Given the description of an element on the screen output the (x, y) to click on. 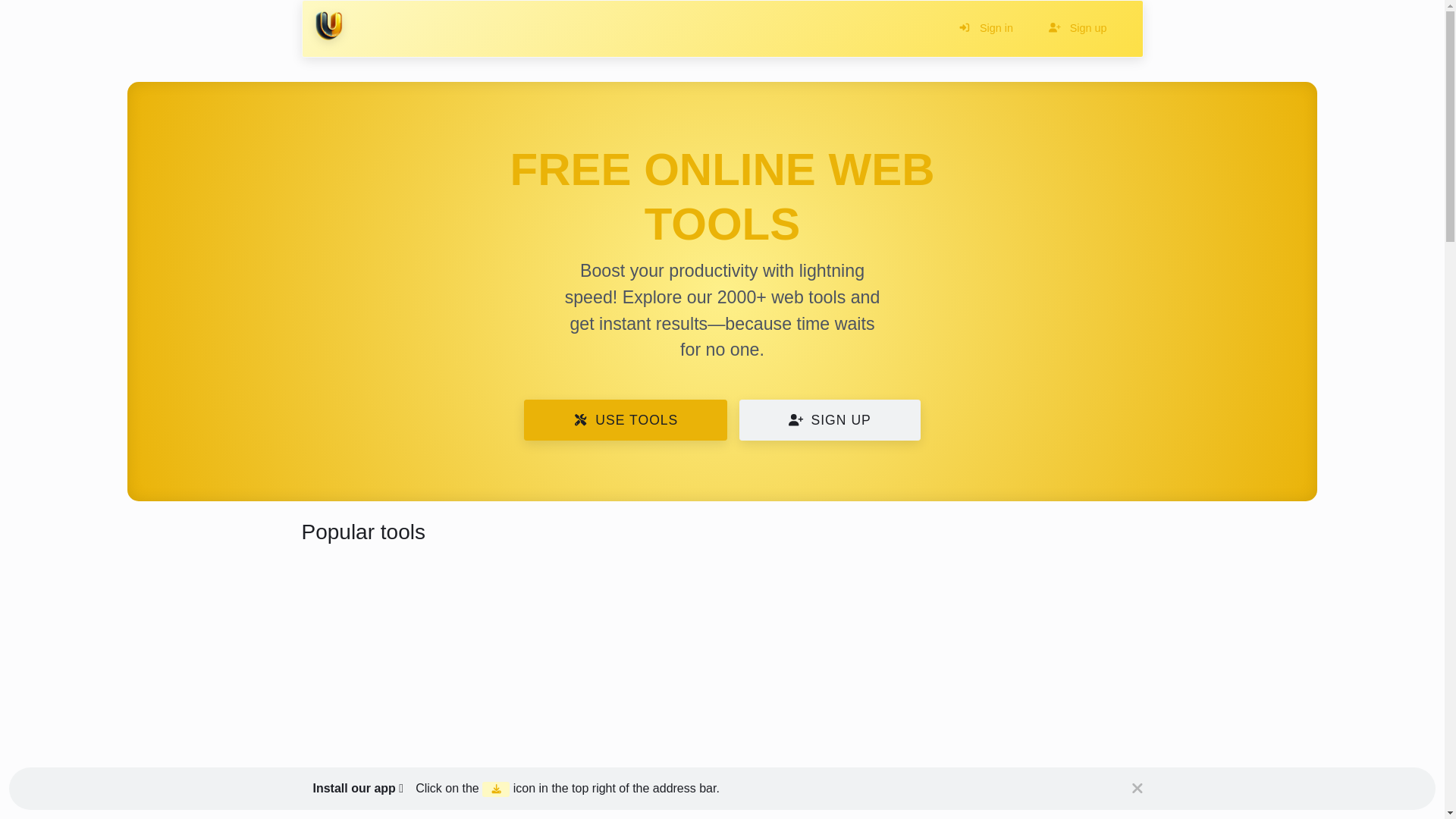
Sign in (985, 28)
SIGN UP (829, 419)
USE TOOLS (625, 419)
Sign up (1077, 28)
